Given the description of an element on the screen output the (x, y) to click on. 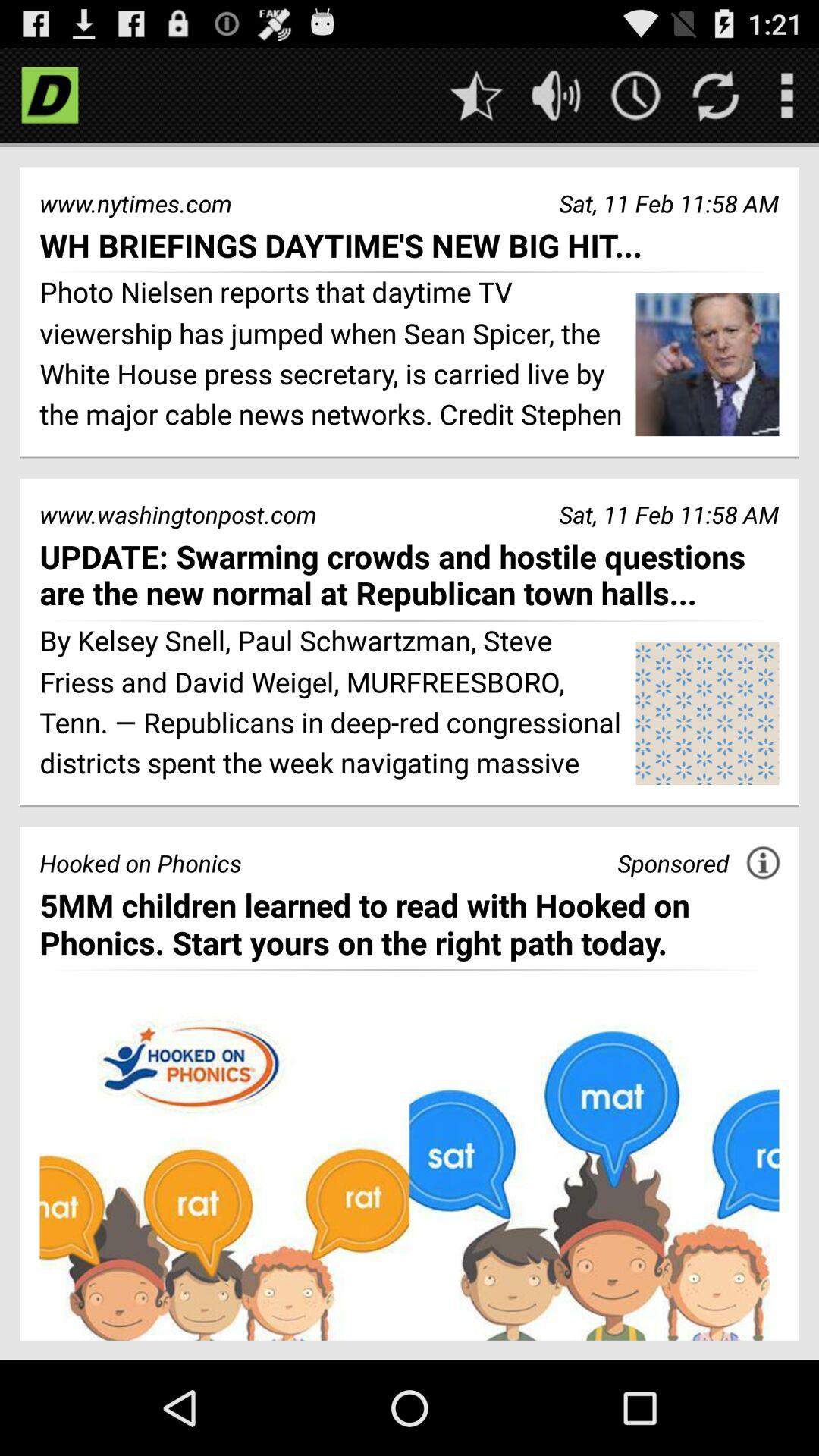
flip until sponsored app (673, 862)
